Given the description of an element on the screen output the (x, y) to click on. 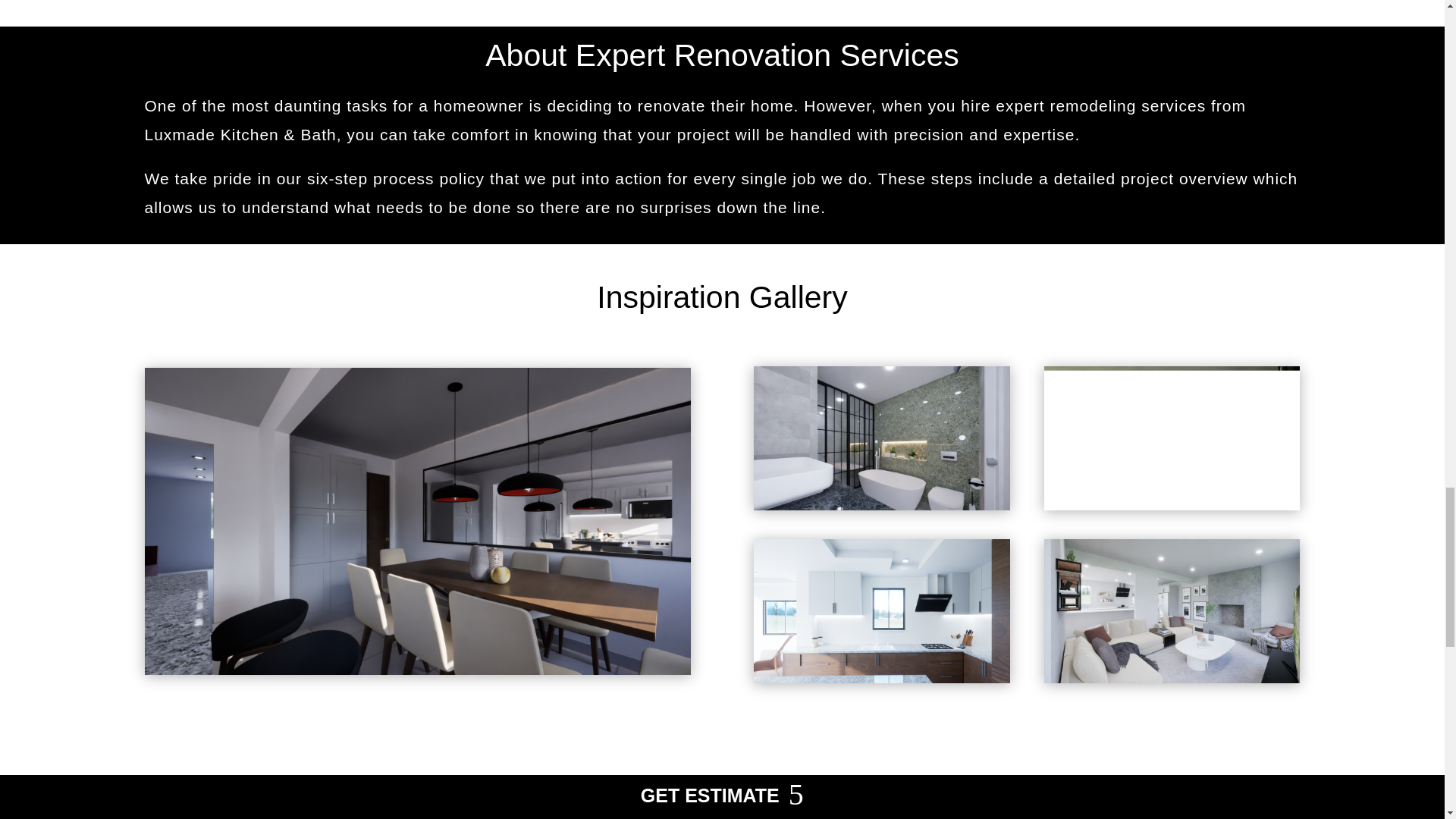
Image5 (882, 438)
Image18 (882, 610)
Image4 (1171, 438)
Image9 (1171, 610)
